Given the description of an element on the screen output the (x, y) to click on. 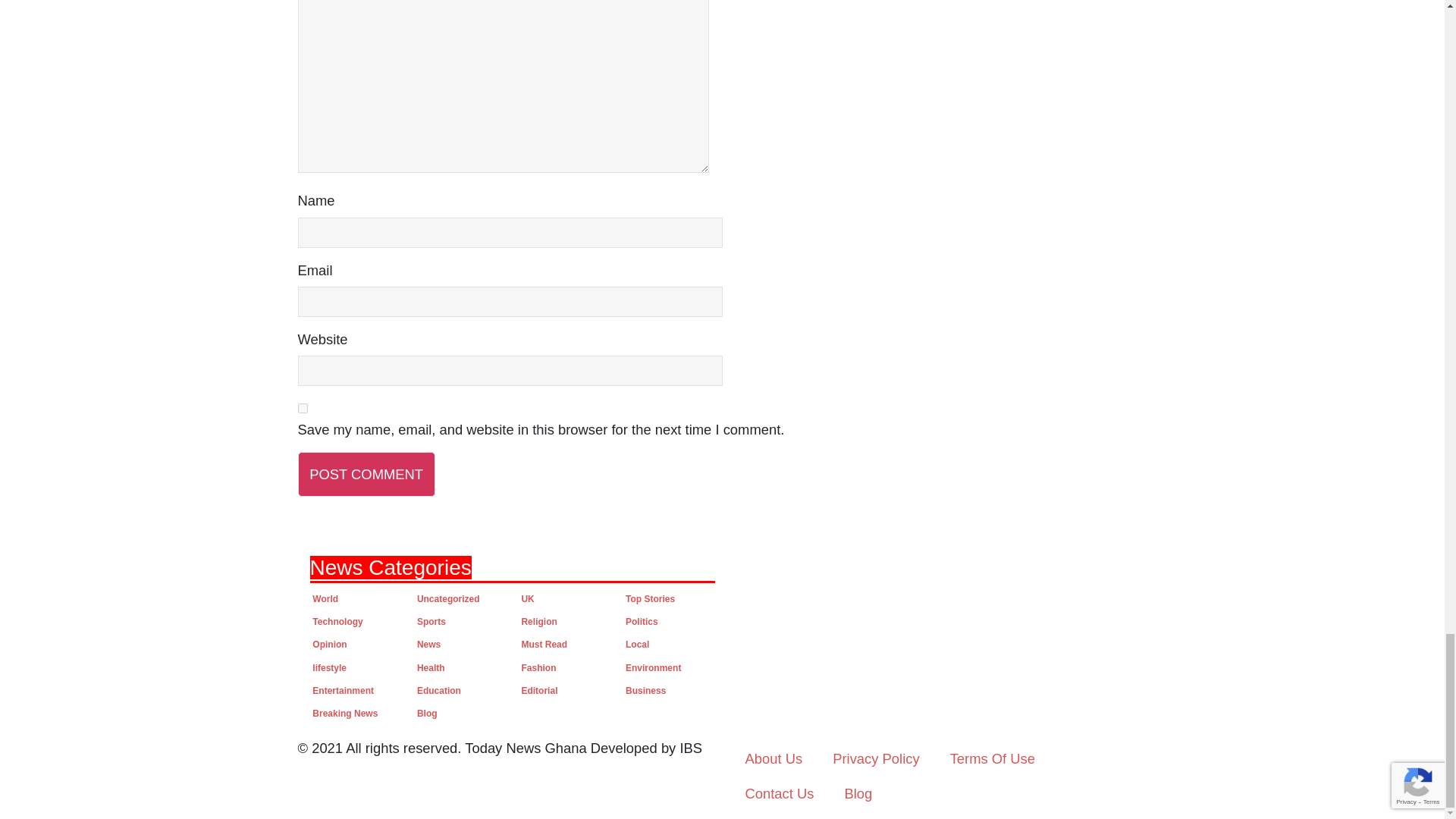
yes (302, 408)
Post Comment (365, 474)
